Given the description of an element on the screen output the (x, y) to click on. 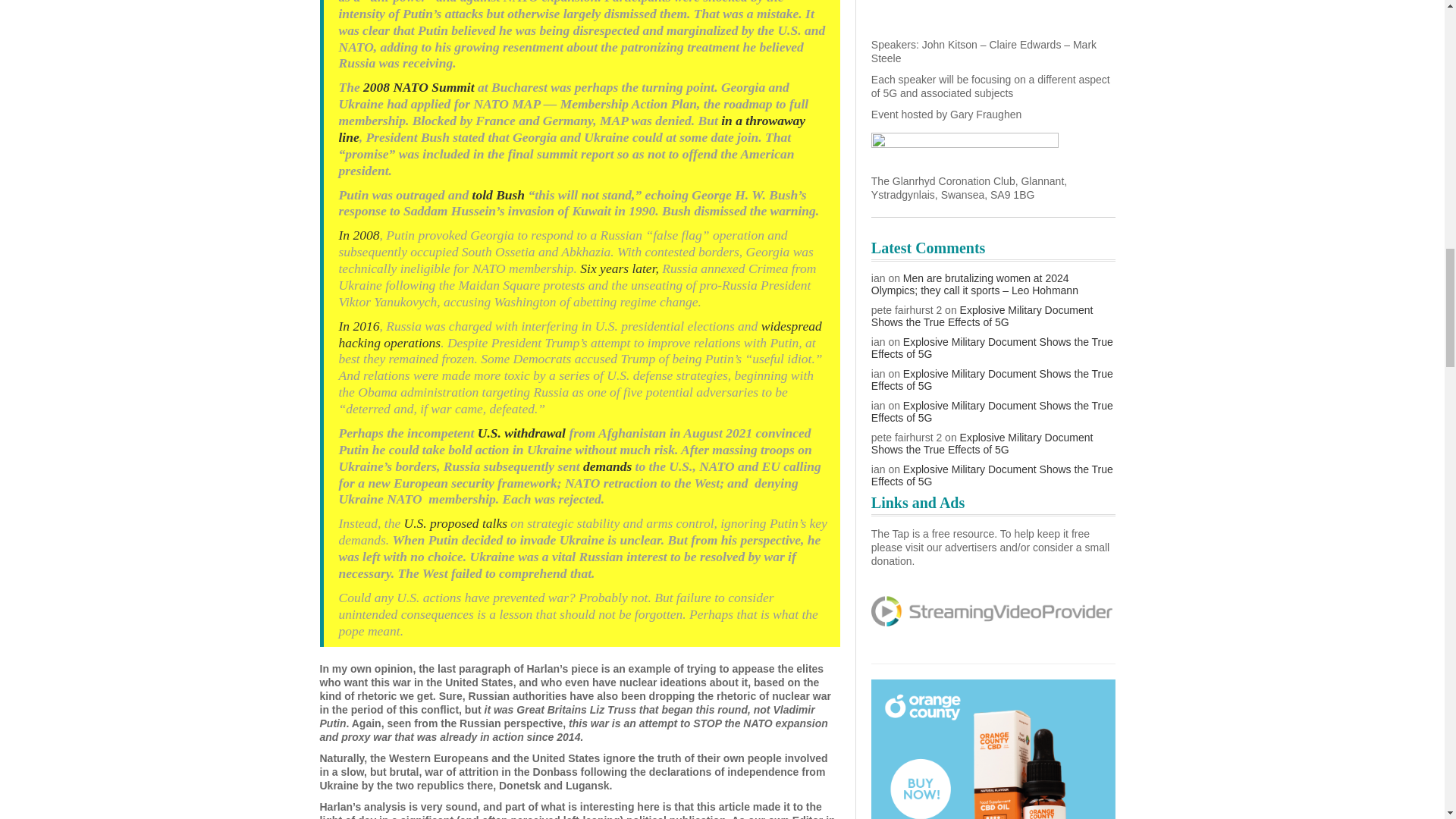
demands (607, 466)
In 2016 (357, 325)
In 2008 (357, 234)
2008 NATO Summit  (419, 87)
widespread hacking operations (579, 334)
 Six years later, (617, 268)
U.S. withdrawal (521, 432)
U.S. proposed talks (455, 522)
in a throwaway line (571, 128)
told Bush (498, 194)
